Given the description of an element on the screen output the (x, y) to click on. 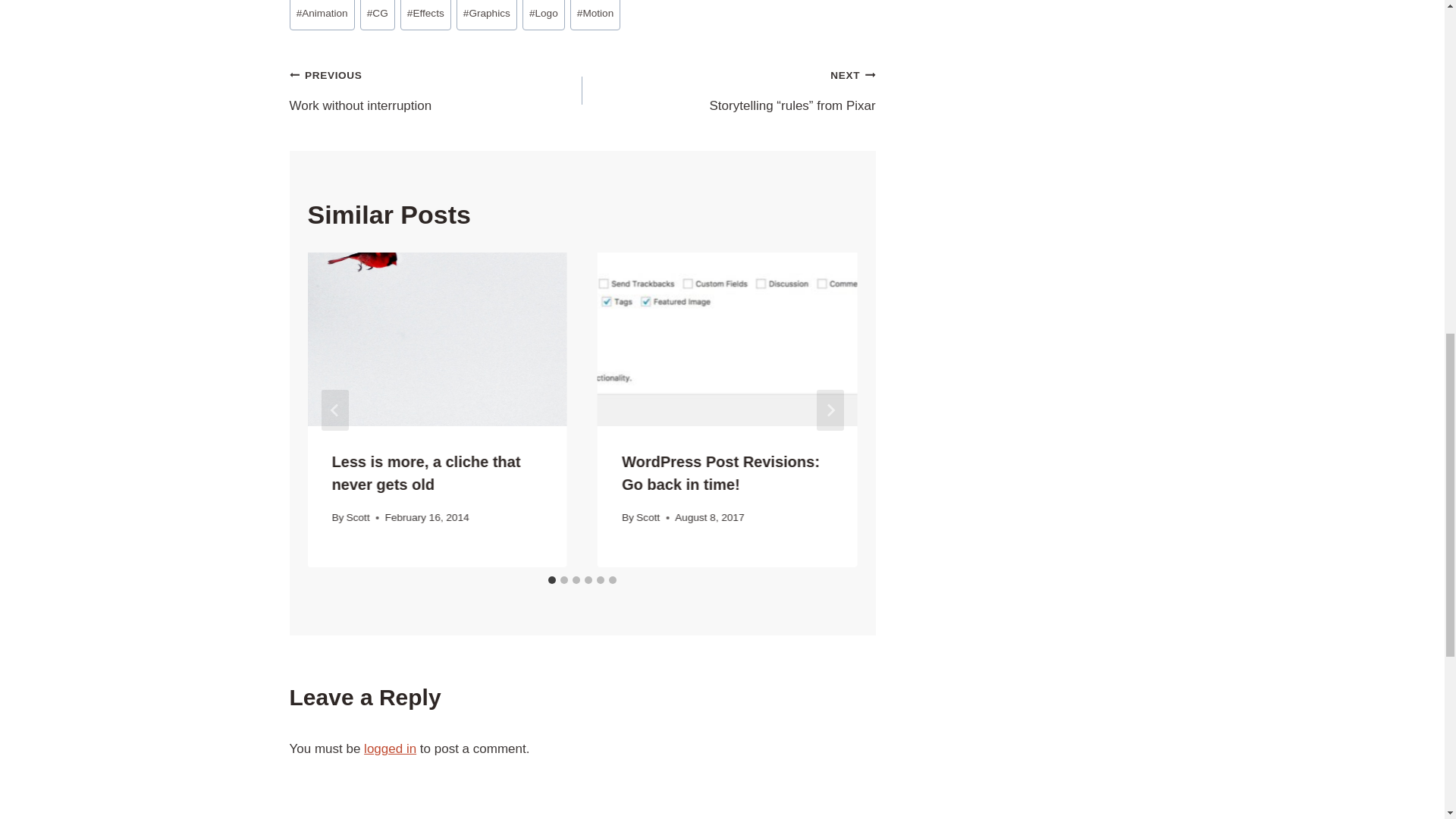
Animation (322, 15)
Logo (543, 15)
CG (376, 15)
Effects (436, 90)
Motion (425, 15)
Graphics (595, 15)
